Given the description of an element on the screen output the (x, y) to click on. 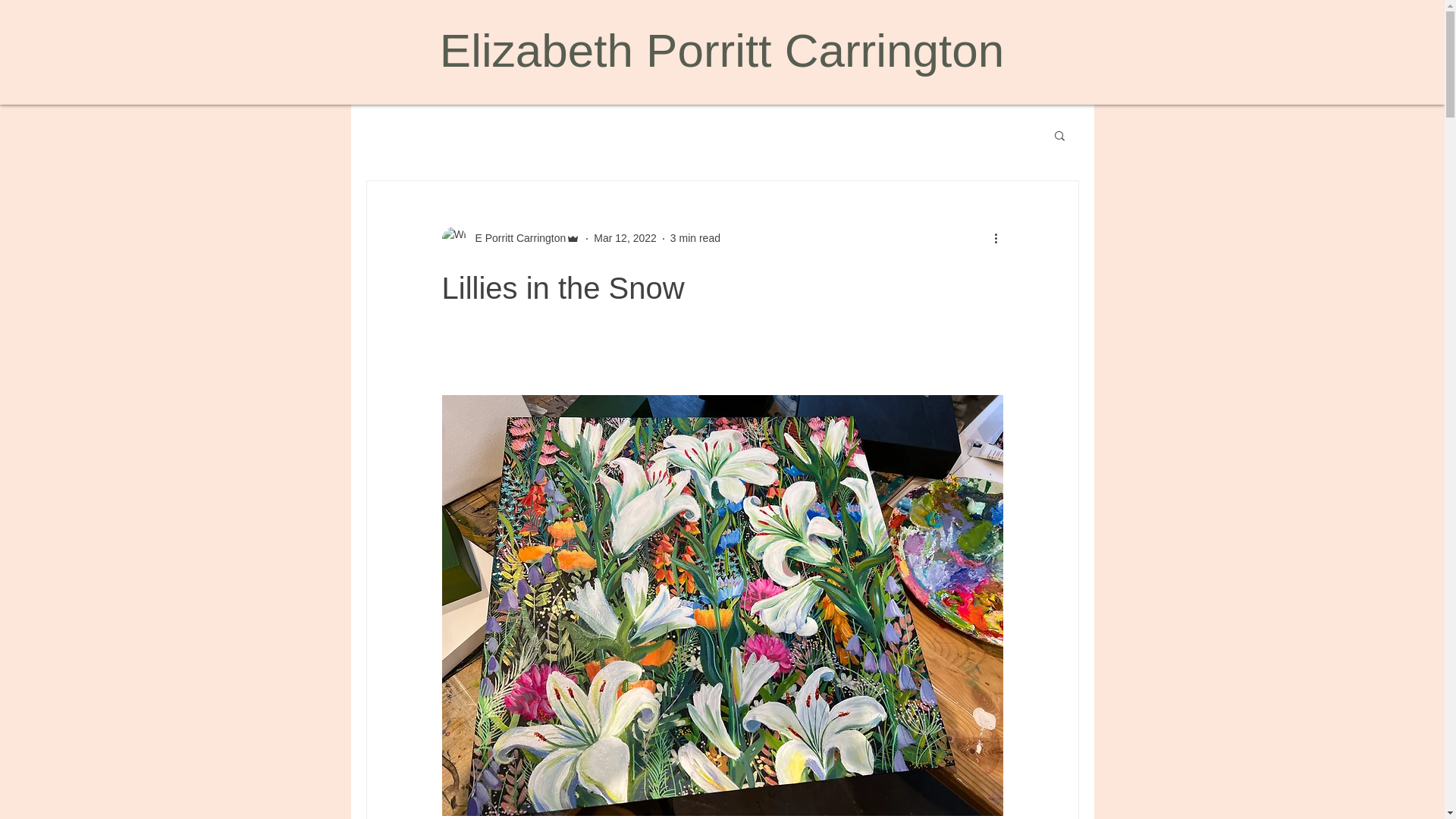
Mar 12, 2022 (625, 237)
E Porritt Carrington (510, 238)
E Porritt Carrington (515, 238)
3 min read (694, 237)
